Given the description of an element on the screen output the (x, y) to click on. 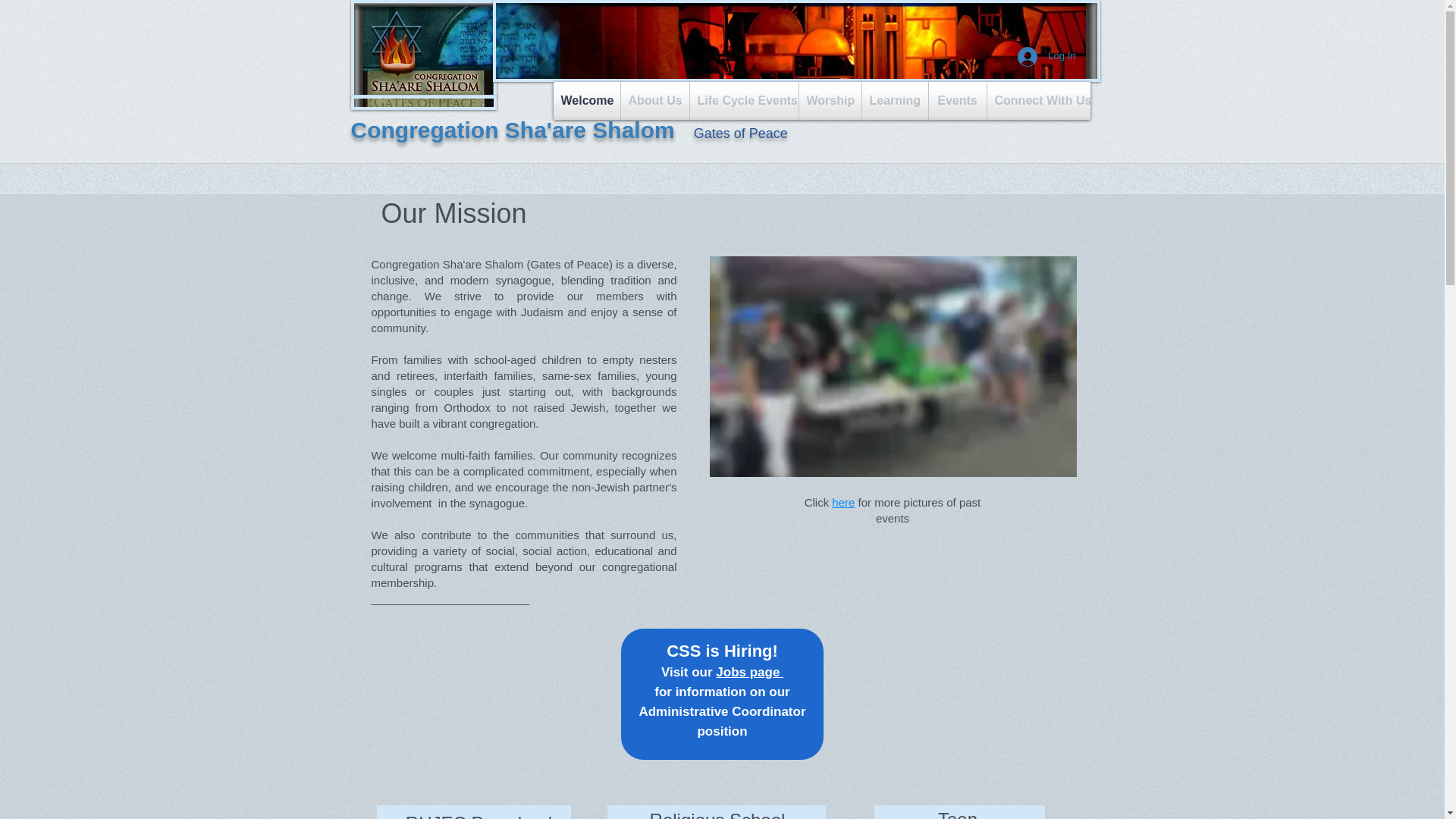
Log In (1046, 56)
Events (956, 100)
Life Cycle Events (743, 100)
Welcome (586, 100)
About Us (654, 100)
Worship (830, 100)
Learning (894, 100)
